Given the description of an element on the screen output the (x, y) to click on. 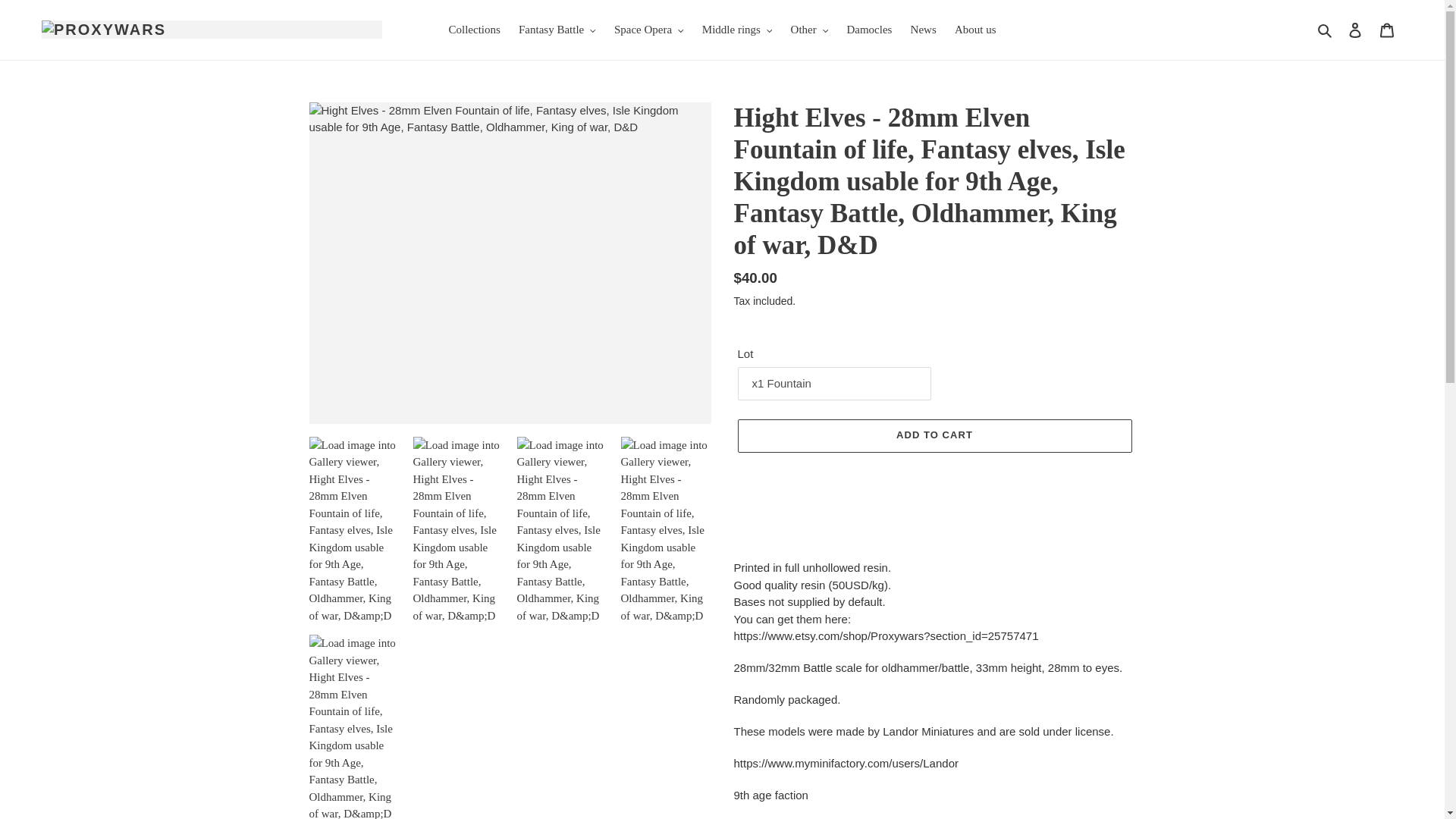
Space Opera (649, 29)
Fantasy Battle (557, 29)
Collections (474, 29)
